Given the description of an element on the screen output the (x, y) to click on. 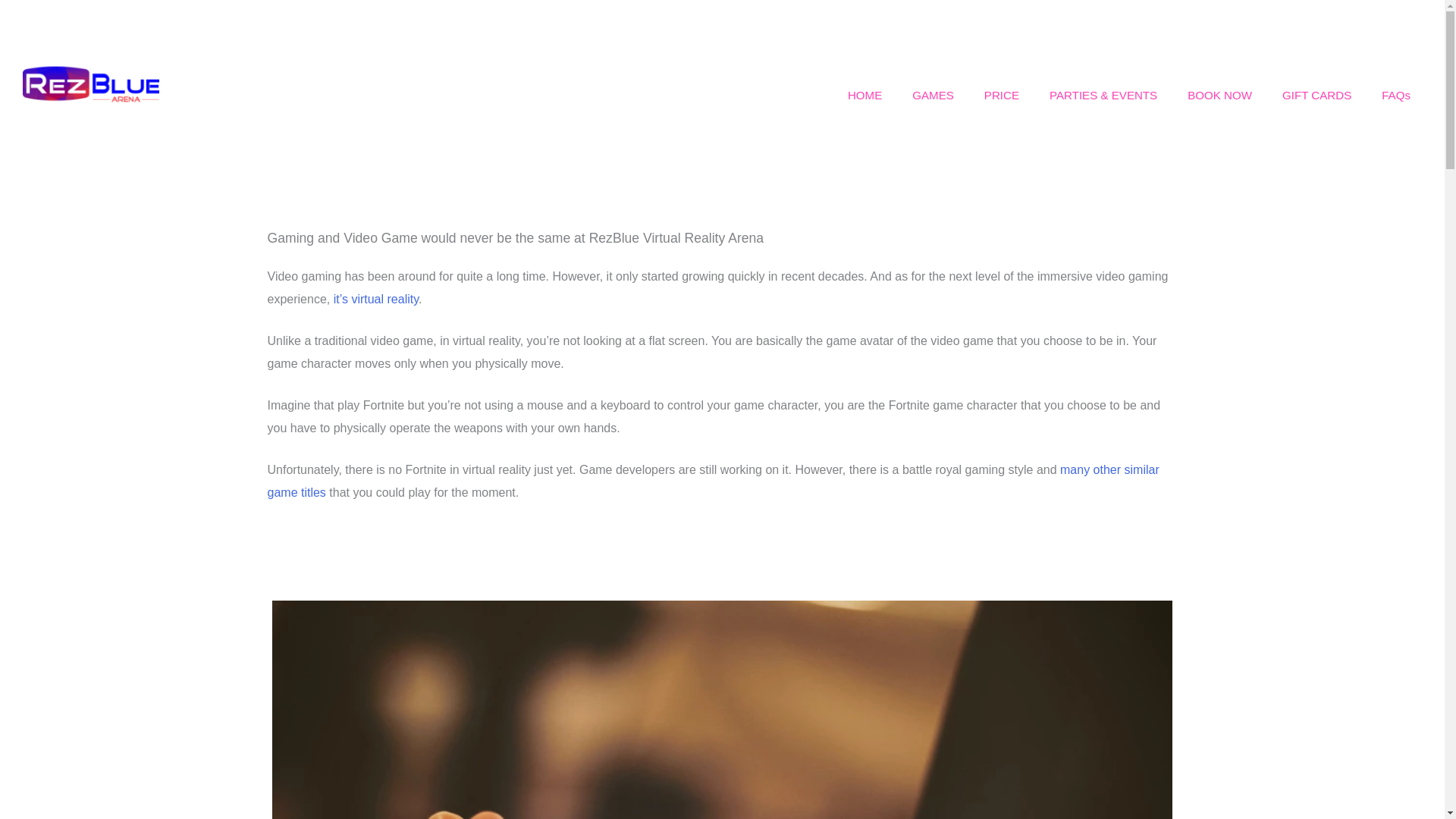
HOME (864, 94)
GAMES (932, 94)
GIFT CARDS (1316, 94)
FAQs (1396, 94)
PRICE (1001, 94)
BOOK NOW (1219, 94)
